Given the description of an element on the screen output the (x, y) to click on. 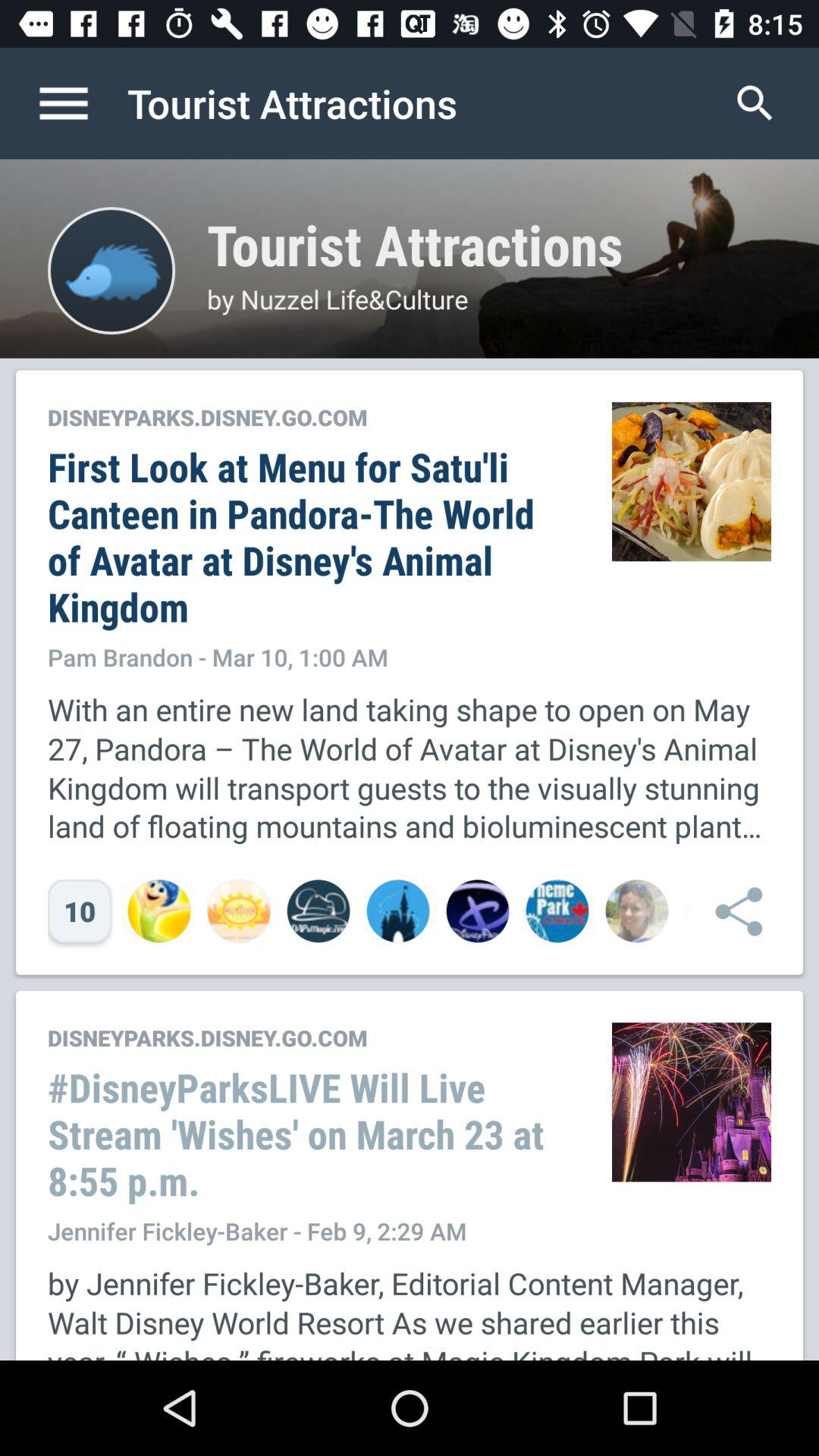
turn off icon to the right of tourist attractions item (755, 103)
